Given the description of an element on the screen output the (x, y) to click on. 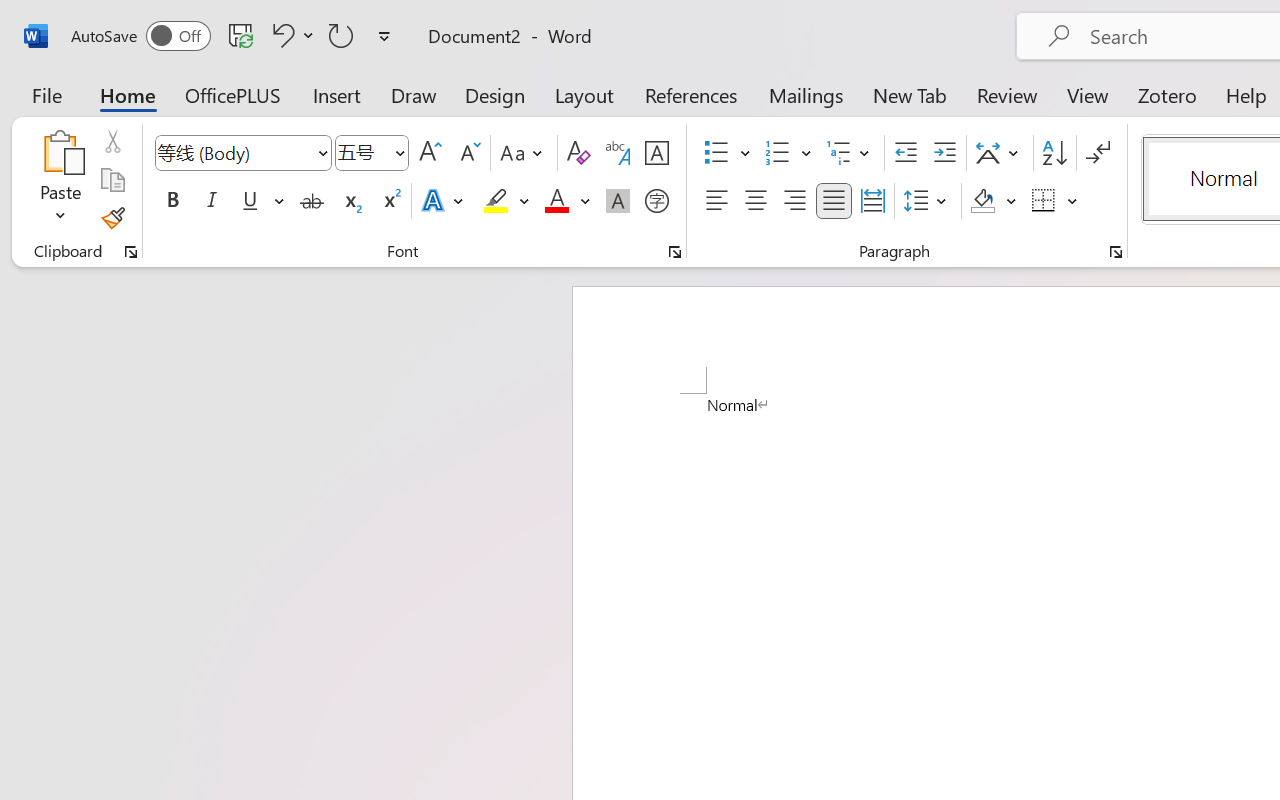
AutoSave (140, 35)
Layout (584, 94)
New Tab (909, 94)
Enclose Characters... (656, 201)
Change Case (524, 153)
Shading (993, 201)
Font (242, 153)
Paragraph... (1115, 252)
Review (1007, 94)
Align Right (794, 201)
Font Color Red (556, 201)
Bold (172, 201)
Save (241, 35)
Office Clipboard... (131, 252)
